Given the description of an element on the screen output the (x, y) to click on. 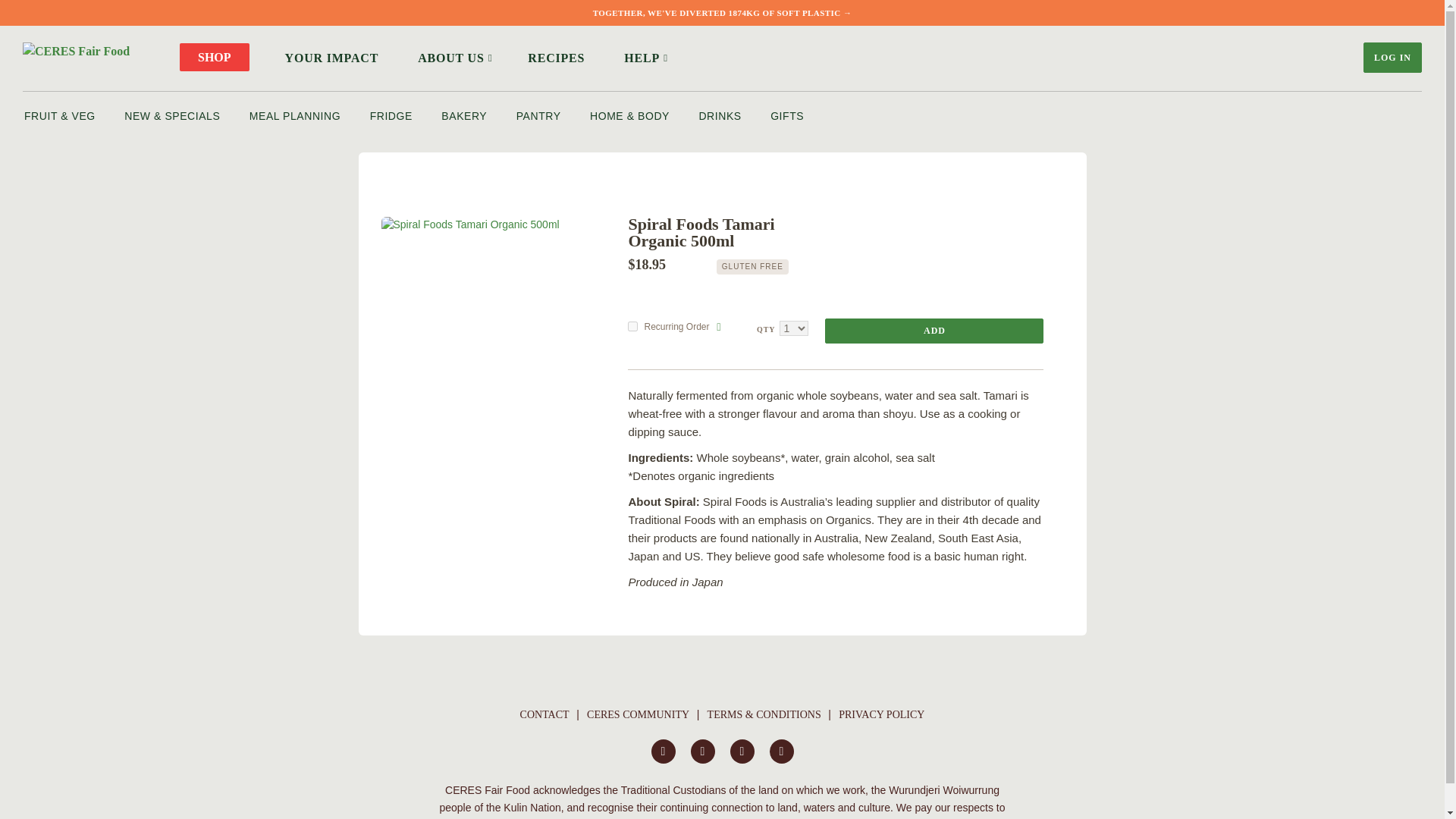
Follow us on Instagram (702, 751)
Add (934, 330)
more info (718, 326)
Follow us on Youtube (741, 751)
YOUR IMPACT (331, 58)
RECIPES (555, 58)
Become a fan on Facebook (662, 751)
HELP (643, 58)
ABOUT US (453, 58)
SHOP (213, 57)
